Given the description of an element on the screen output the (x, y) to click on. 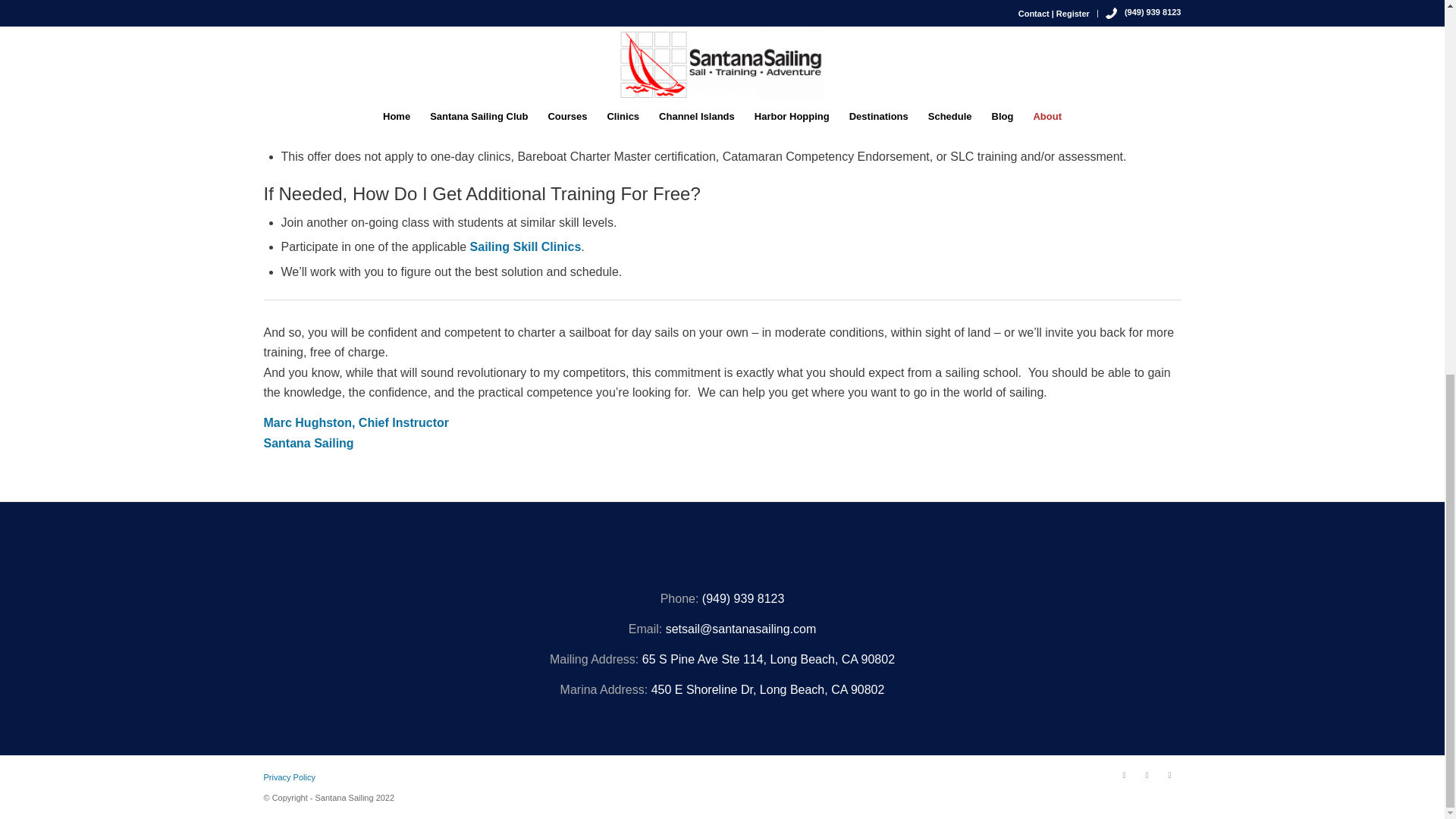
Instagram (1146, 774)
Facebook (1124, 774)
Youtube (1169, 774)
